Given the description of an element on the screen output the (x, y) to click on. 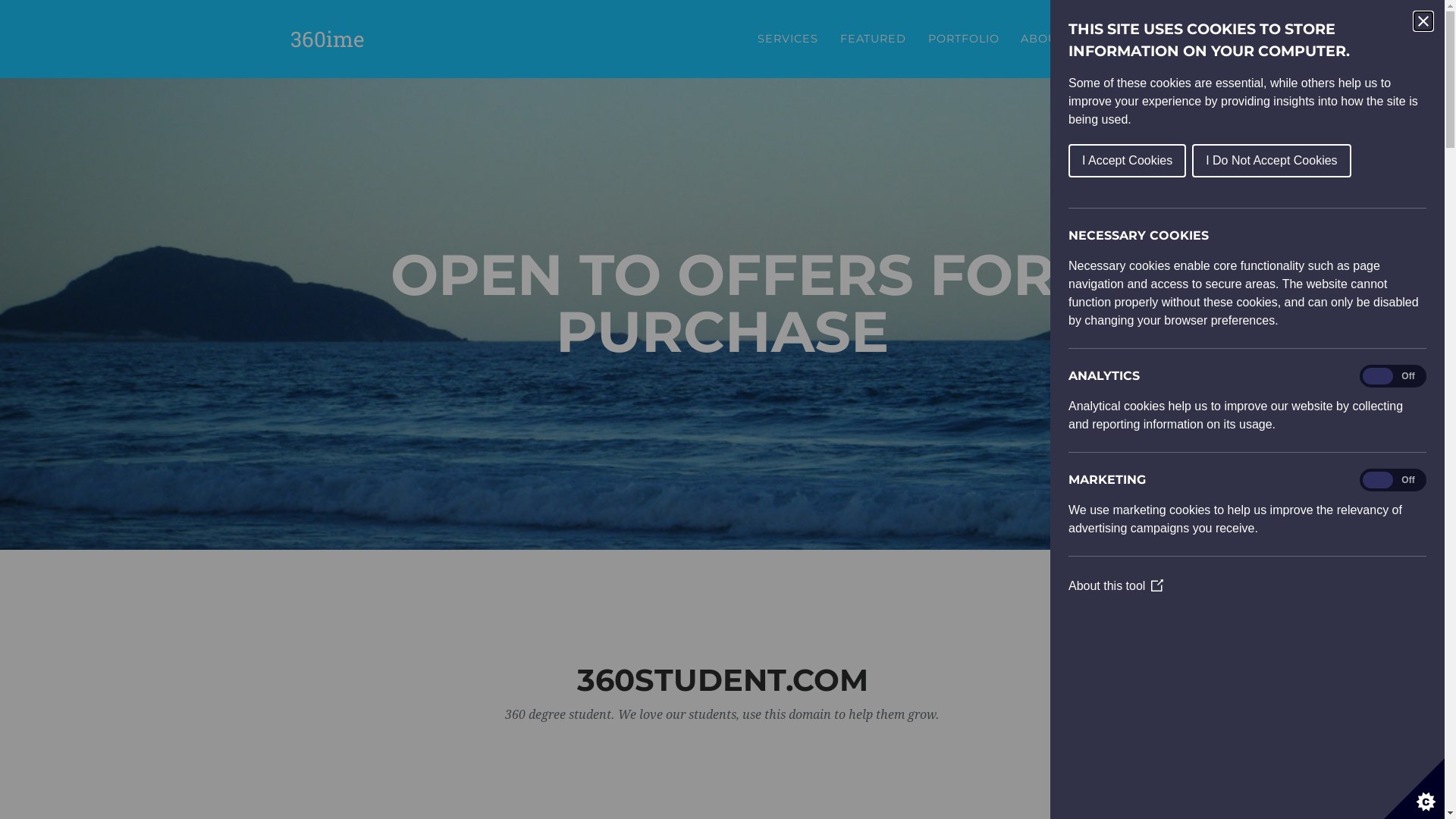
ABOUT Element type: text (1042, 38)
PORTFOLIO Element type: text (963, 38)
CONTACT Element type: text (1114, 38)
I Do Not Accept Cookies Element type: text (1271, 160)
SERVICES Element type: text (787, 38)
About this tool
(Opens in a new window) Element type: text (1115, 585)
360ime Element type: text (326, 39)
FEATURED Element type: text (872, 38)
I Accept Cookies Element type: text (1127, 160)
